Given the description of an element on the screen output the (x, y) to click on. 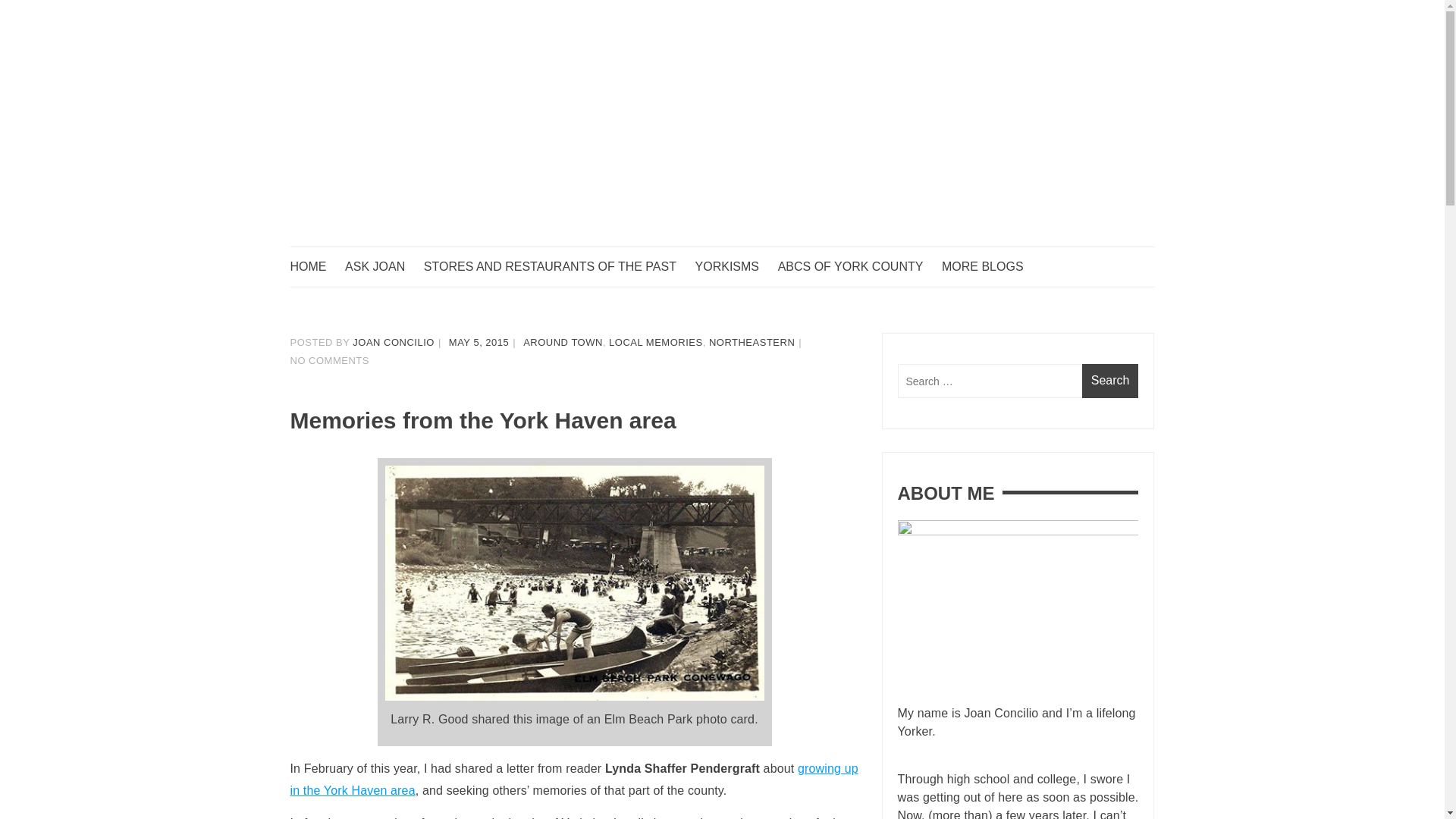
LOCAL MEMORIES (655, 342)
MORE BLOGS (990, 266)
AROUND TOWN (562, 342)
Only in York County (405, 275)
ASK JOAN (382, 266)
HOME (314, 266)
NORTHEASTERN (751, 342)
JOAN CONCILIO (392, 342)
growing up in the York Haven area (573, 779)
YORKISMS (734, 266)
